Given the description of an element on the screen output the (x, y) to click on. 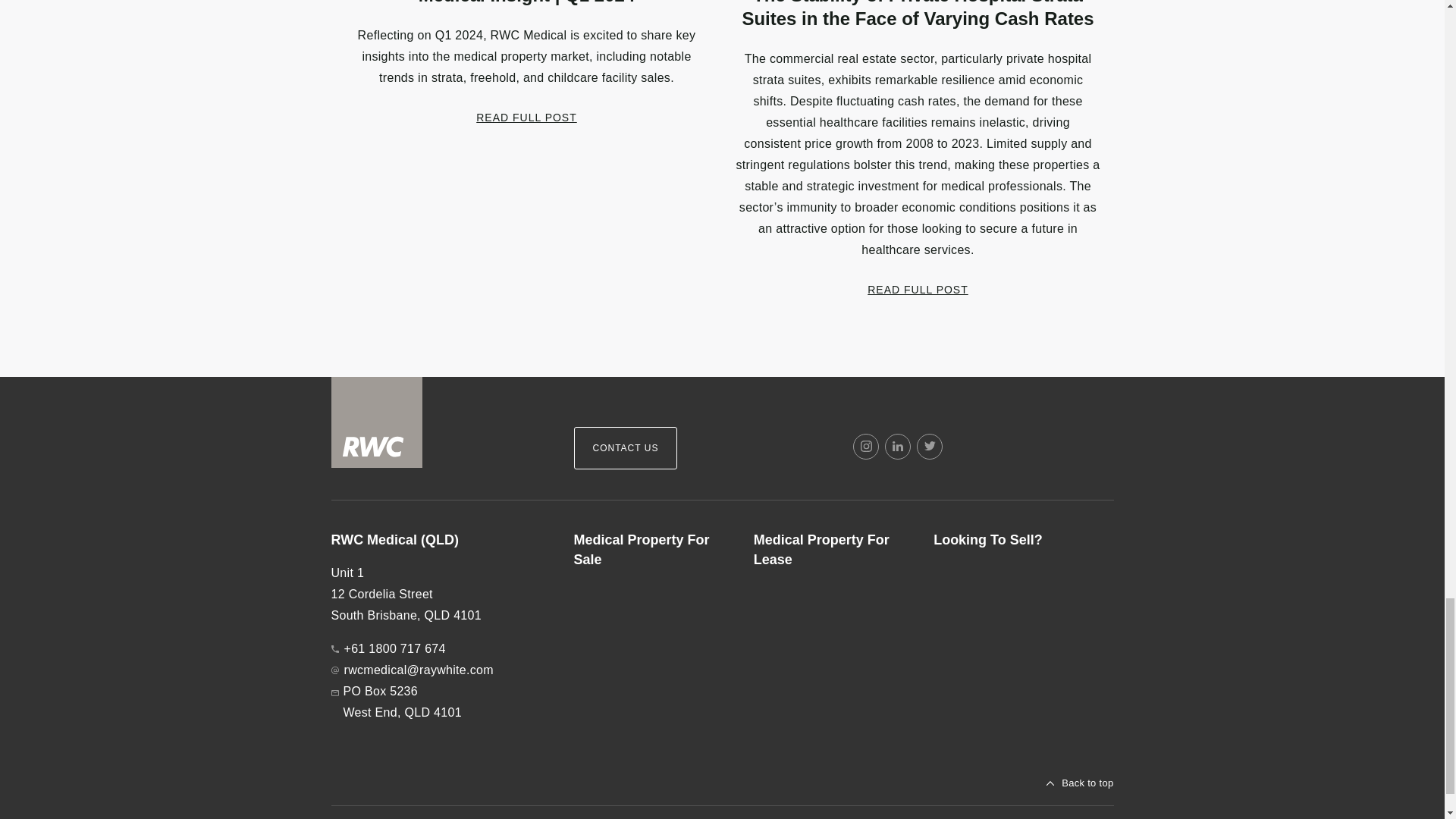
Medical Property For Lease (831, 550)
CONTACT US (625, 447)
READ FULL POST (917, 288)
Medical Property For Sale (651, 550)
Instagram (866, 446)
LinkedIn (898, 446)
Twitter (929, 446)
Back to top (1079, 783)
READ FULL POST (526, 116)
Ray White (376, 421)
Looking To Sell? (1011, 540)
